Given the description of an element on the screen output the (x, y) to click on. 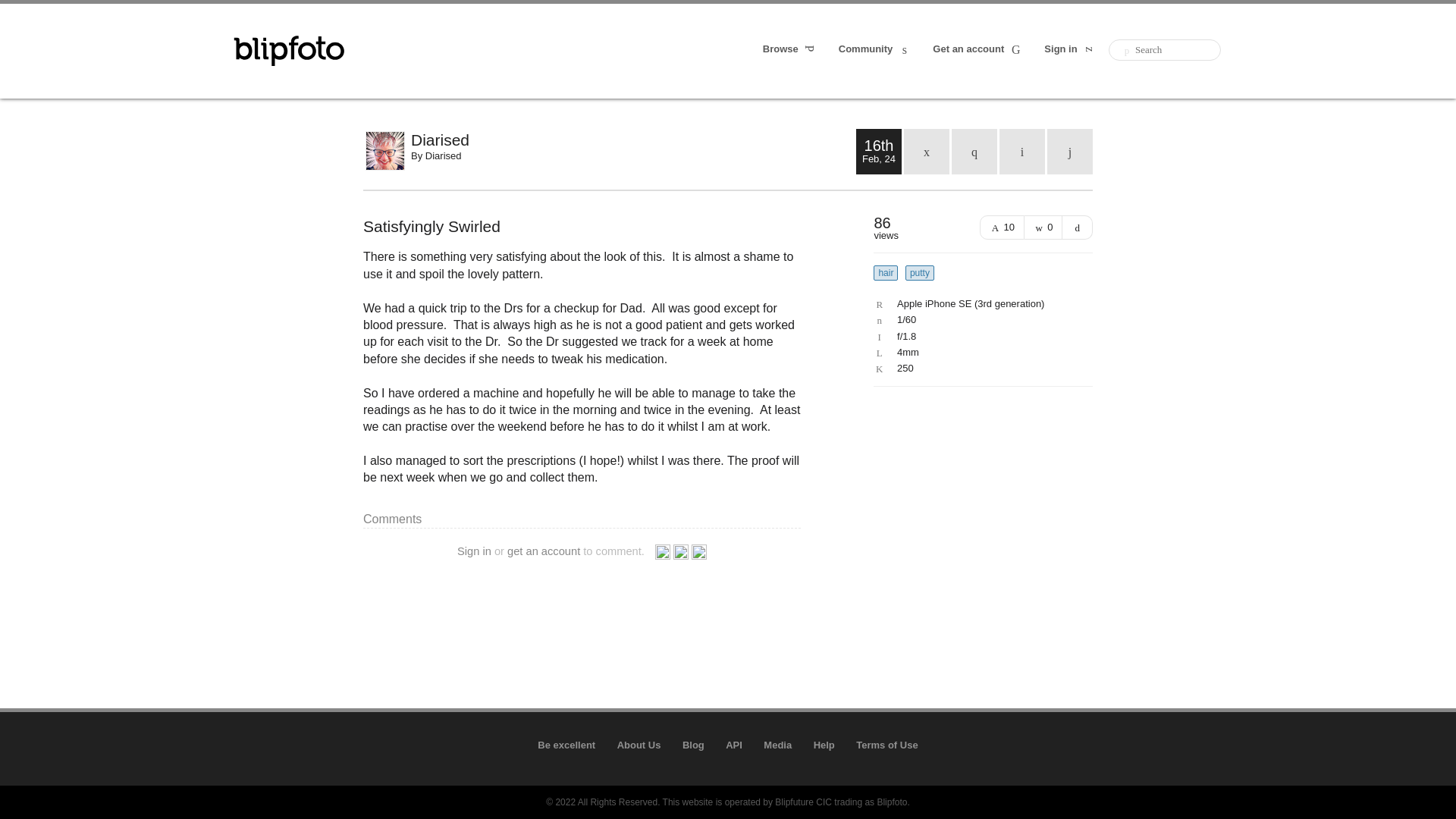
One year ago (974, 151)
get an account (542, 551)
Show large (1077, 227)
Blog (693, 745)
Previous (1021, 151)
putty (919, 272)
Browse (789, 50)
Community (874, 50)
Terms of Use (886, 745)
Media (777, 745)
Camera (978, 303)
Diarised (633, 139)
Diarised (443, 155)
Next (1069, 151)
calendar (926, 151)
